Given the description of an element on the screen output the (x, y) to click on. 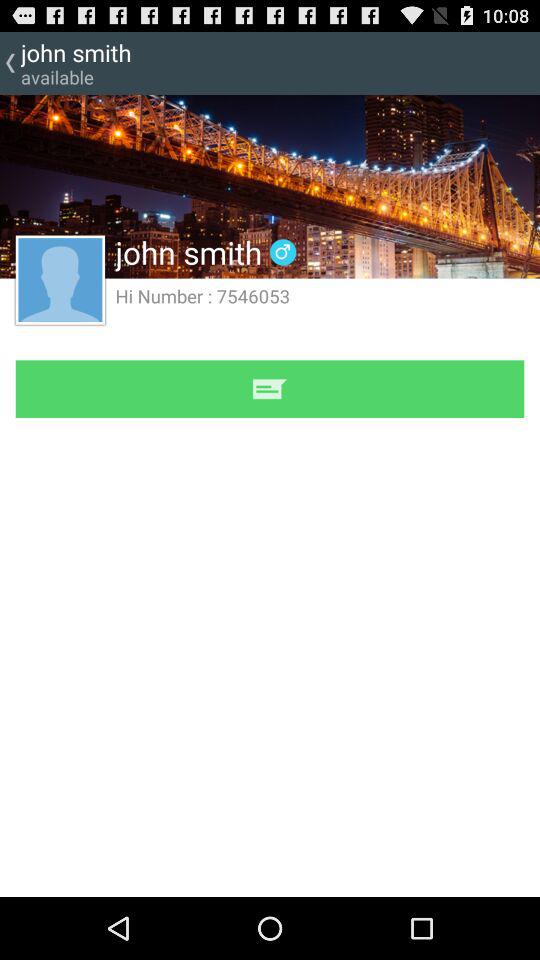
launch hi number : 7546053 icon (202, 295)
